Given the description of an element on the screen output the (x, y) to click on. 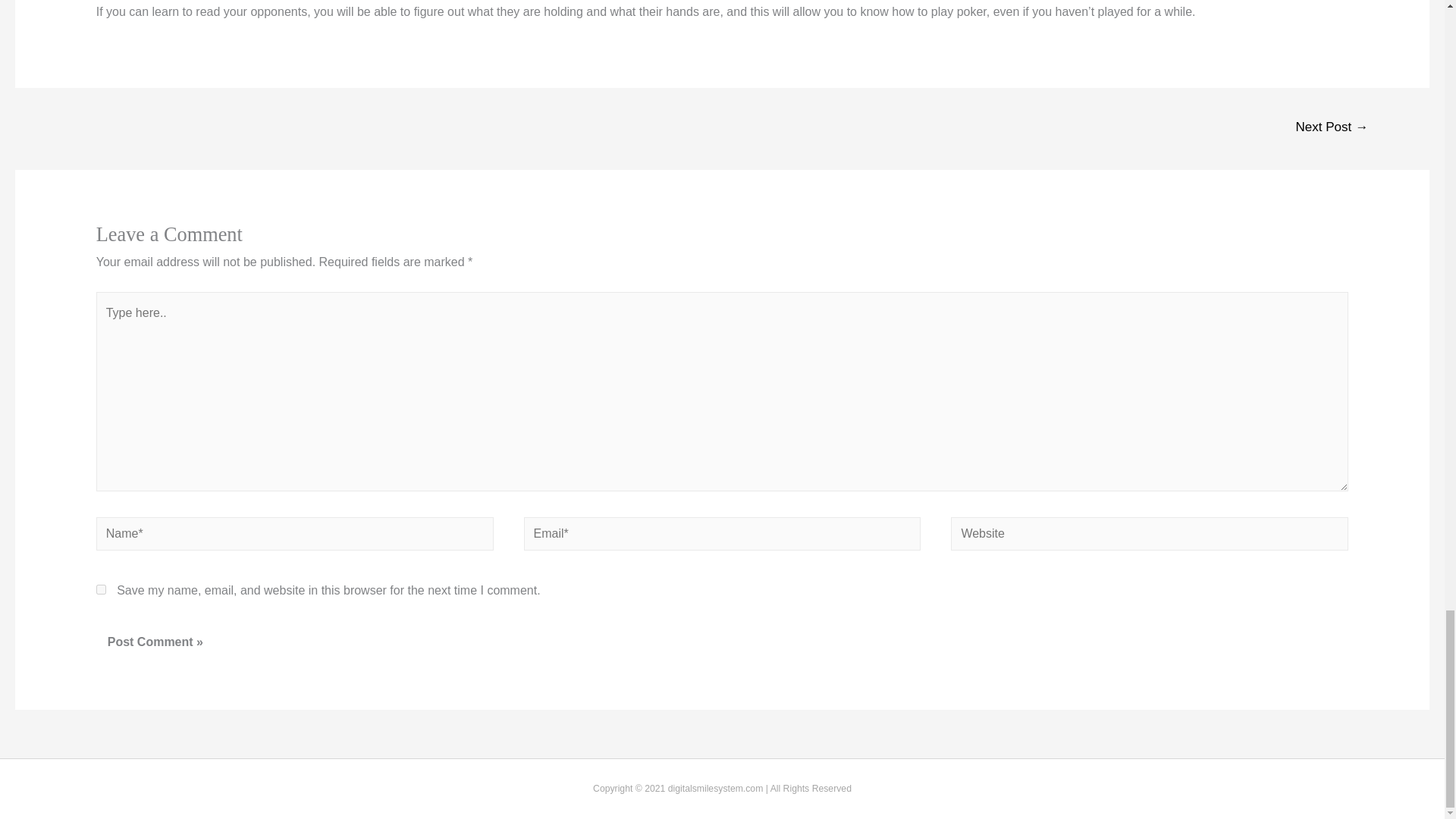
yes (101, 589)
